Given the description of an element on the screen output the (x, y) to click on. 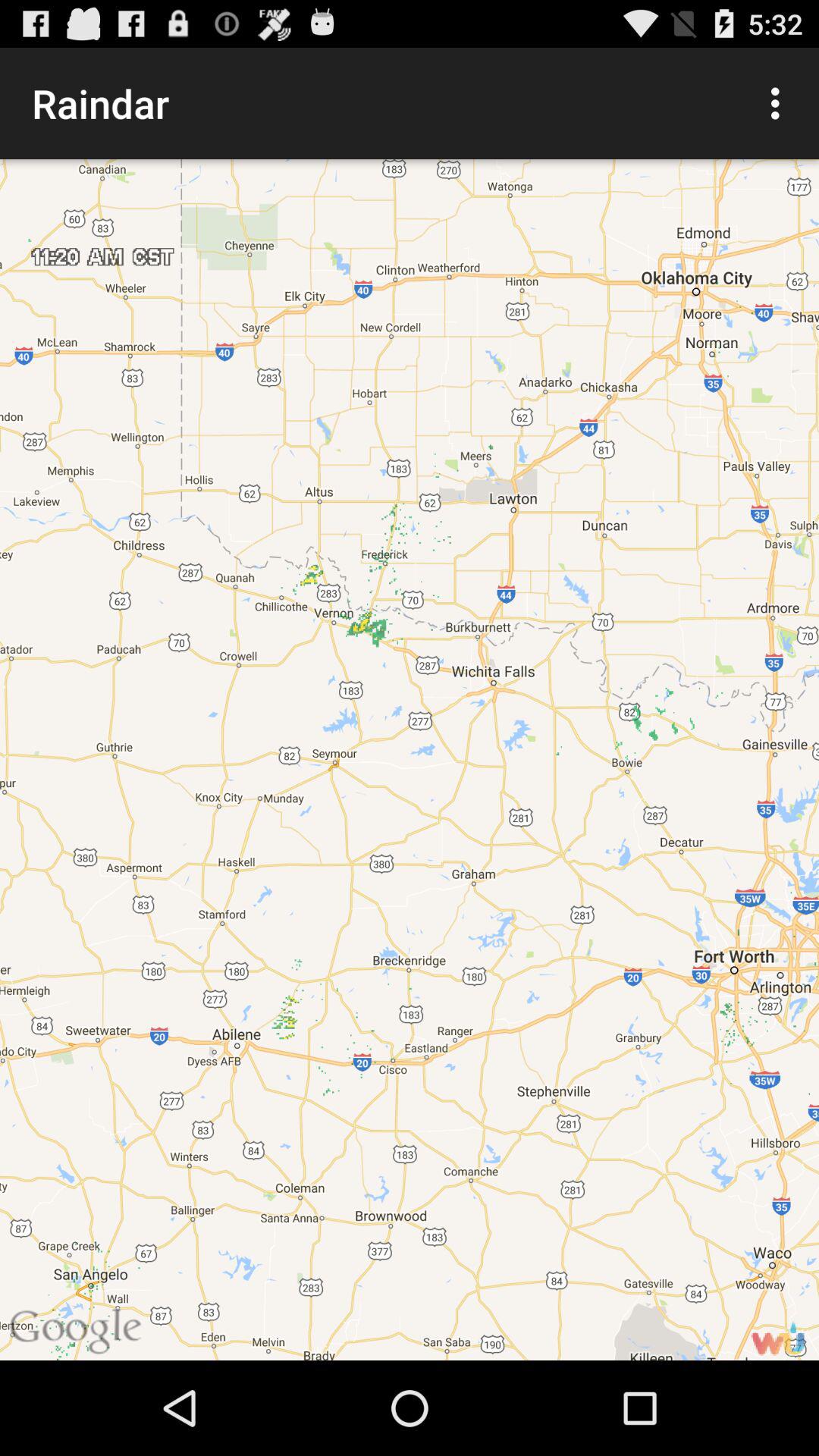
turn on the item at the top right corner (779, 103)
